Given the description of an element on the screen output the (x, y) to click on. 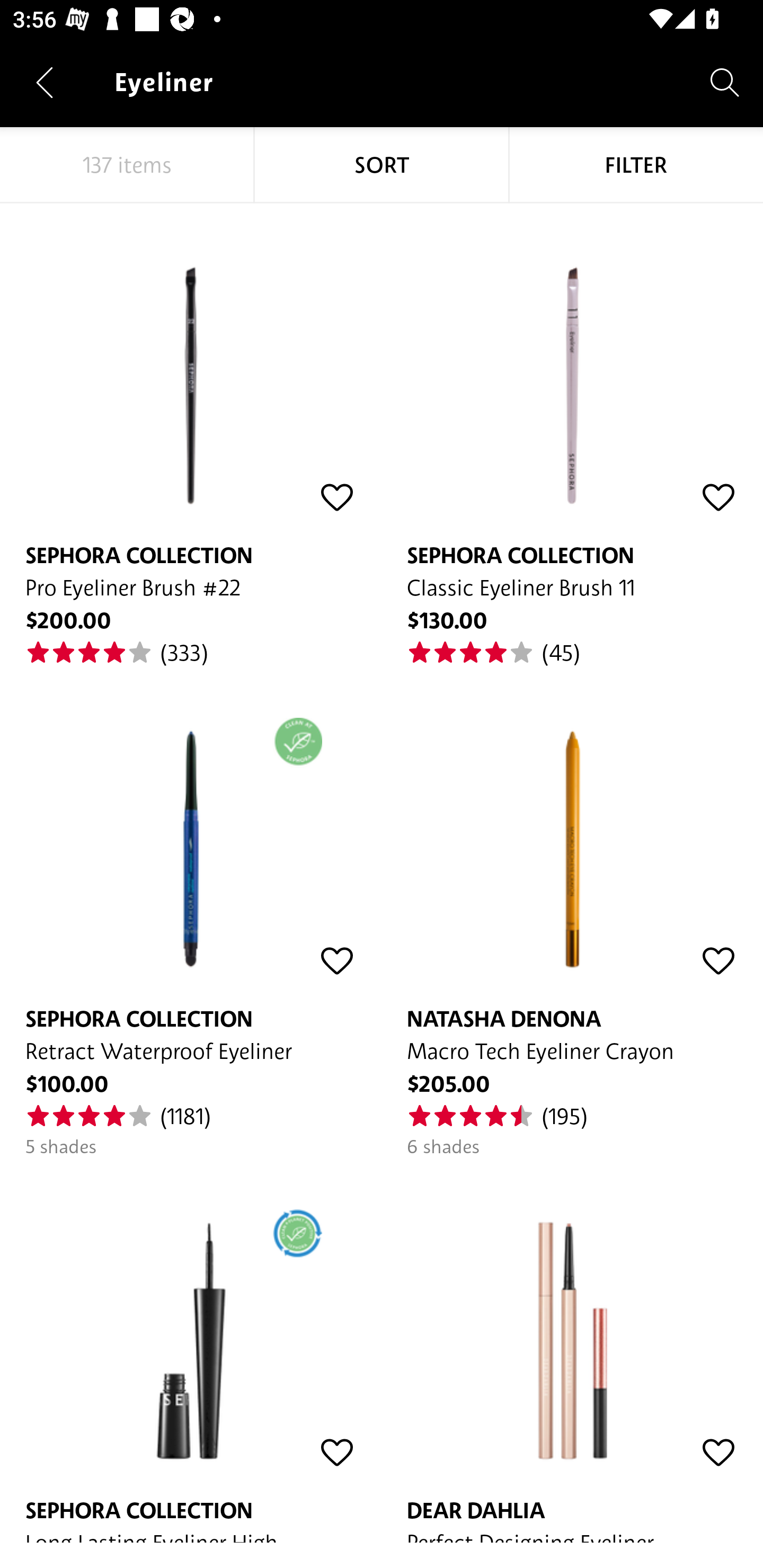
Navigate up (44, 82)
Search (724, 81)
SORT (381, 165)
FILTER (636, 165)
